Given the description of an element on the screen output the (x, y) to click on. 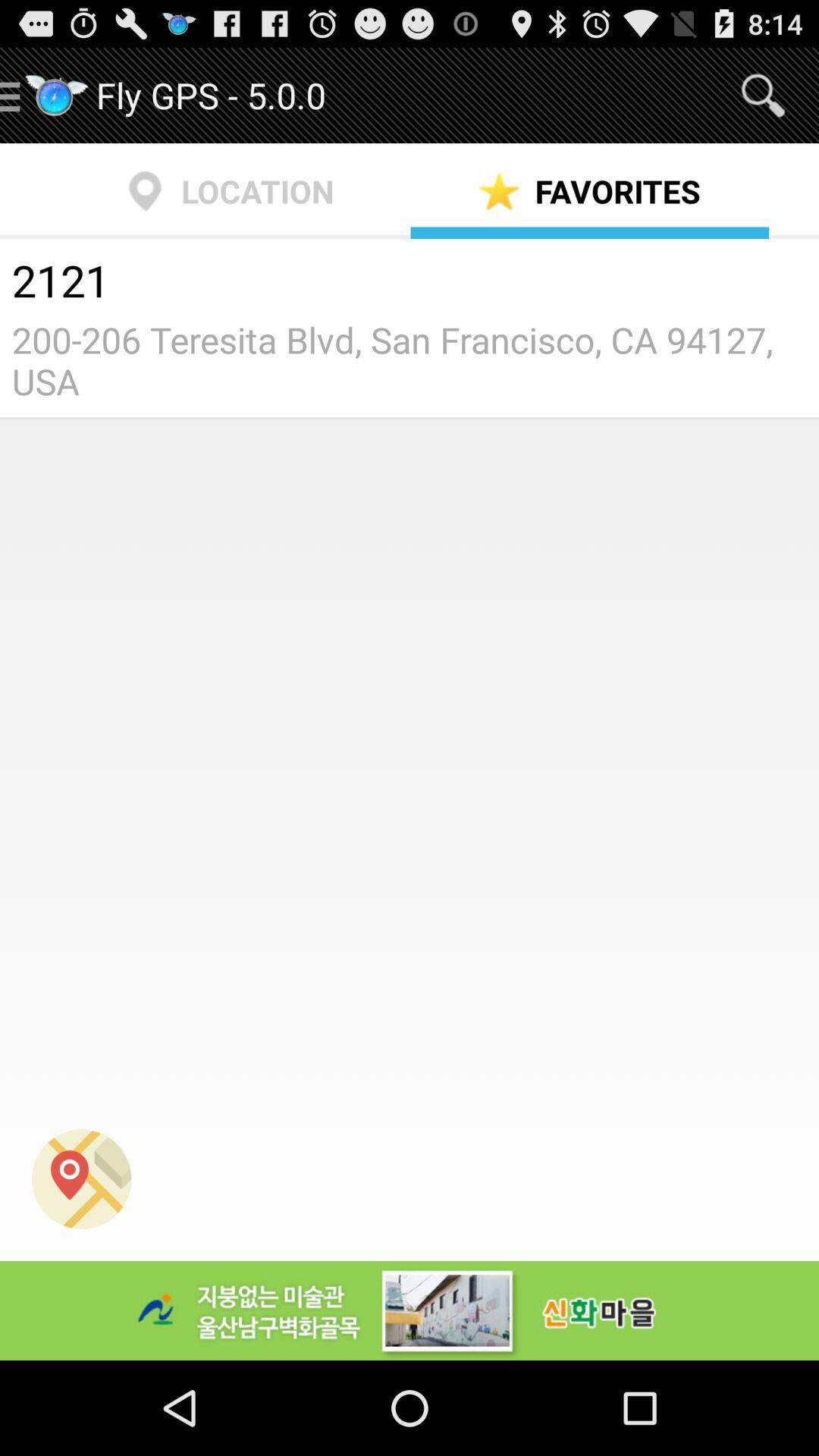
jump until the 2121 item (409, 282)
